Given the description of an element on the screen output the (x, y) to click on. 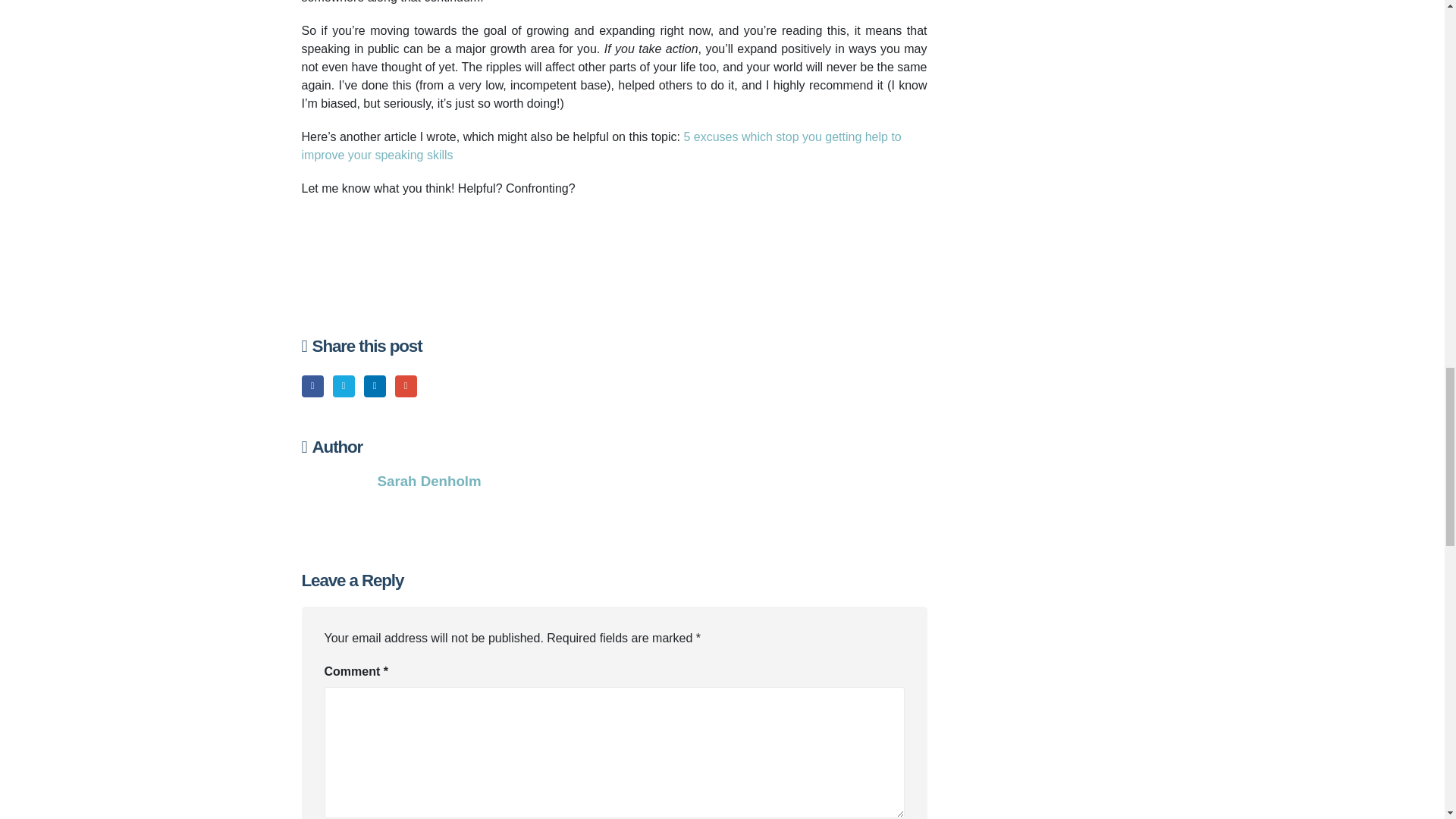
LinkedIn (374, 386)
Facebook (312, 386)
Email (405, 386)
Posts by Sarah Denholm (429, 480)
Twitter (344, 386)
